Given the description of an element on the screen output the (x, y) to click on. 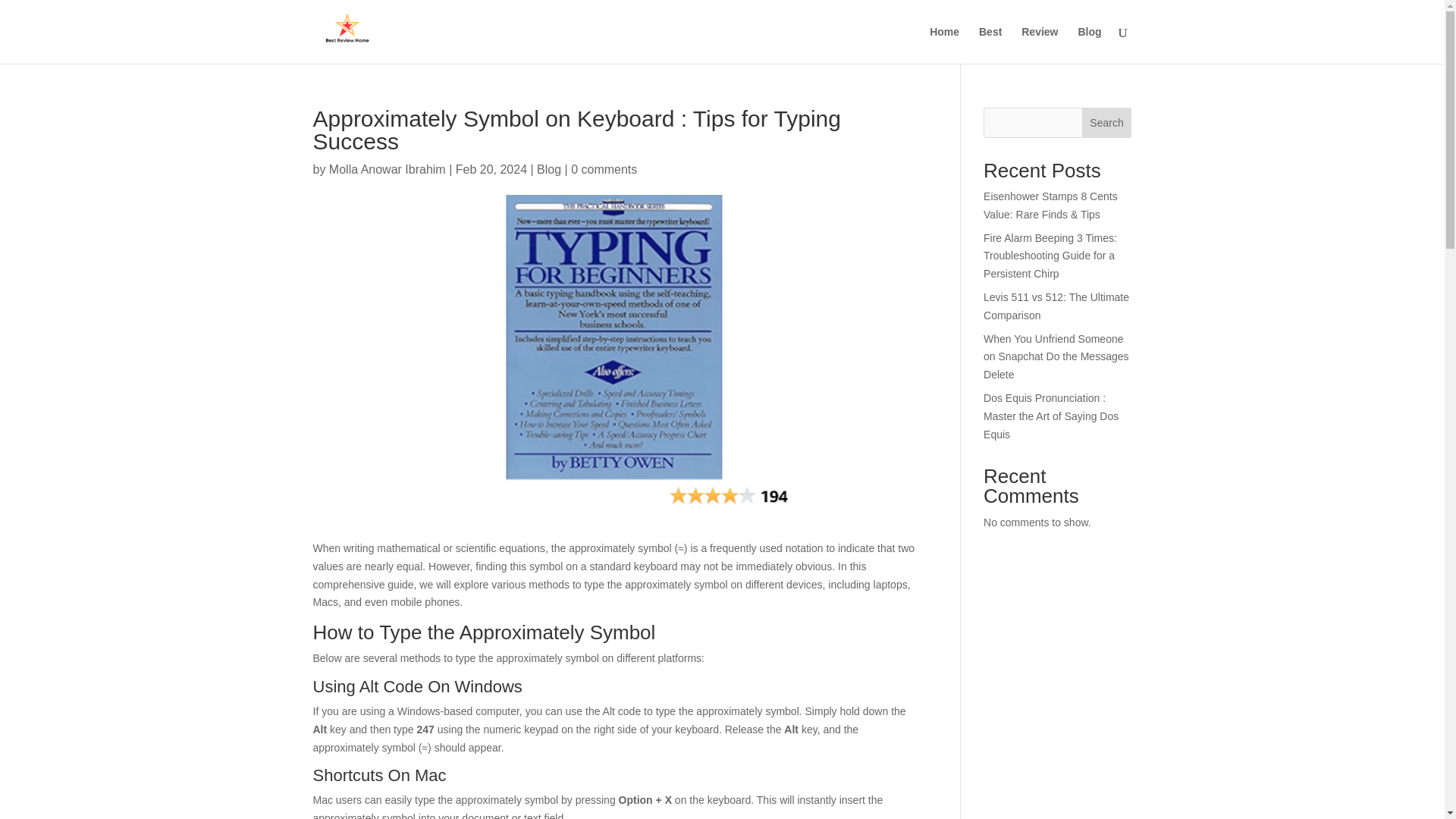
Dos Equis Pronunciation : Master the Art of Saying Dos Equis (1051, 416)
Molla Anowar Ibrahim (387, 169)
Levis 511 vs 512: The Ultimate Comparison (1056, 306)
0 comments (603, 169)
Blog (548, 169)
Review (1040, 44)
When You Unfriend Someone on Snapchat Do the Messages Delete (1056, 356)
Posts by Molla Anowar Ibrahim (387, 169)
Search (1106, 122)
